Given the description of an element on the screen output the (x, y) to click on. 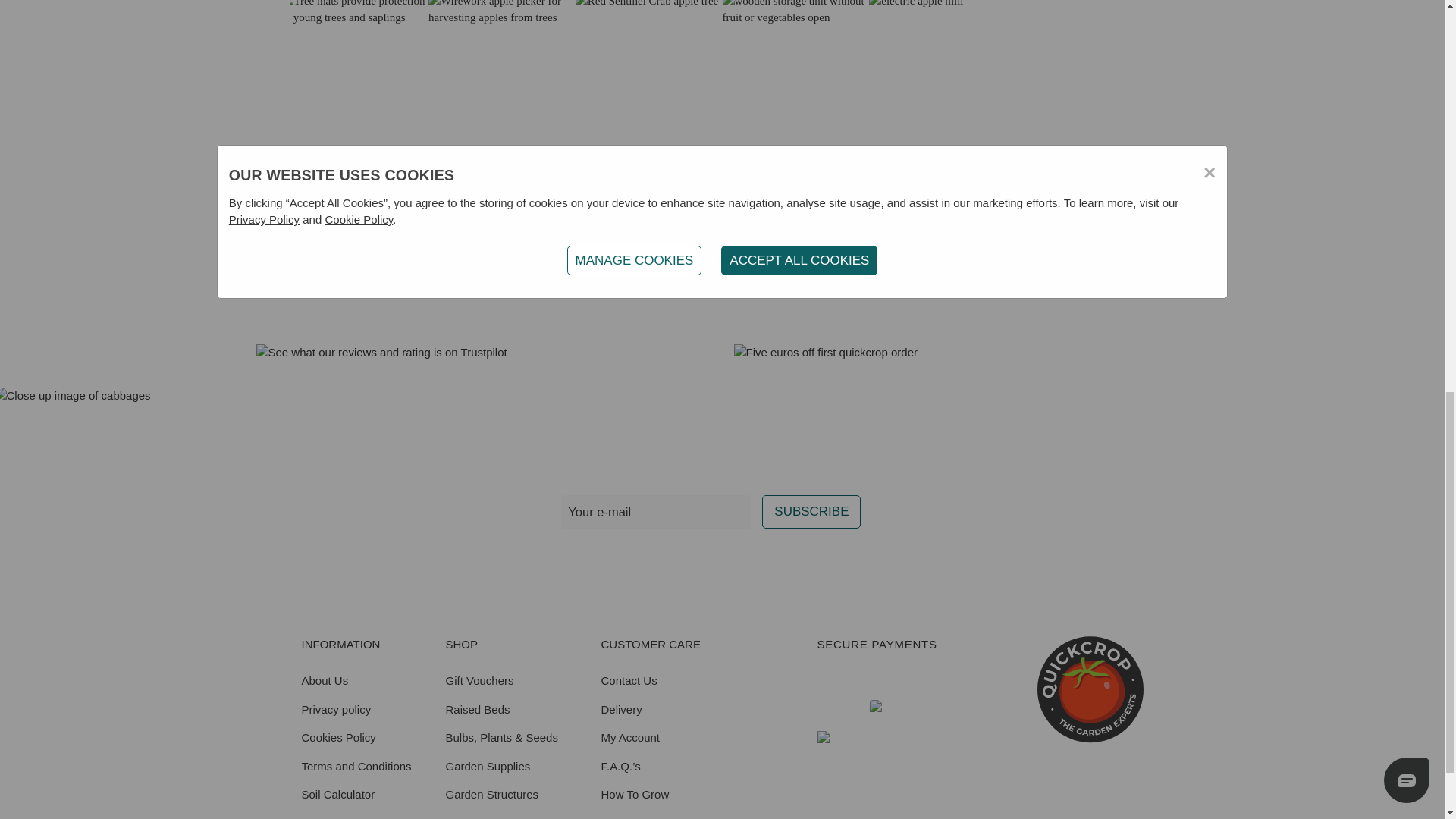
instagram link (667, 561)
Tree mats provide protection to young trees and saplings (354, 51)
wooden storage unit without fruit or vegetables open (795, 51)
electric apple mill (942, 51)
Subscribe (810, 511)
facebook link (631, 561)
Red Sentinel Crab apple tree (648, 51)
Wirework apple picker for harvesting apples from trees (501, 51)
